Given the description of an element on the screen output the (x, y) to click on. 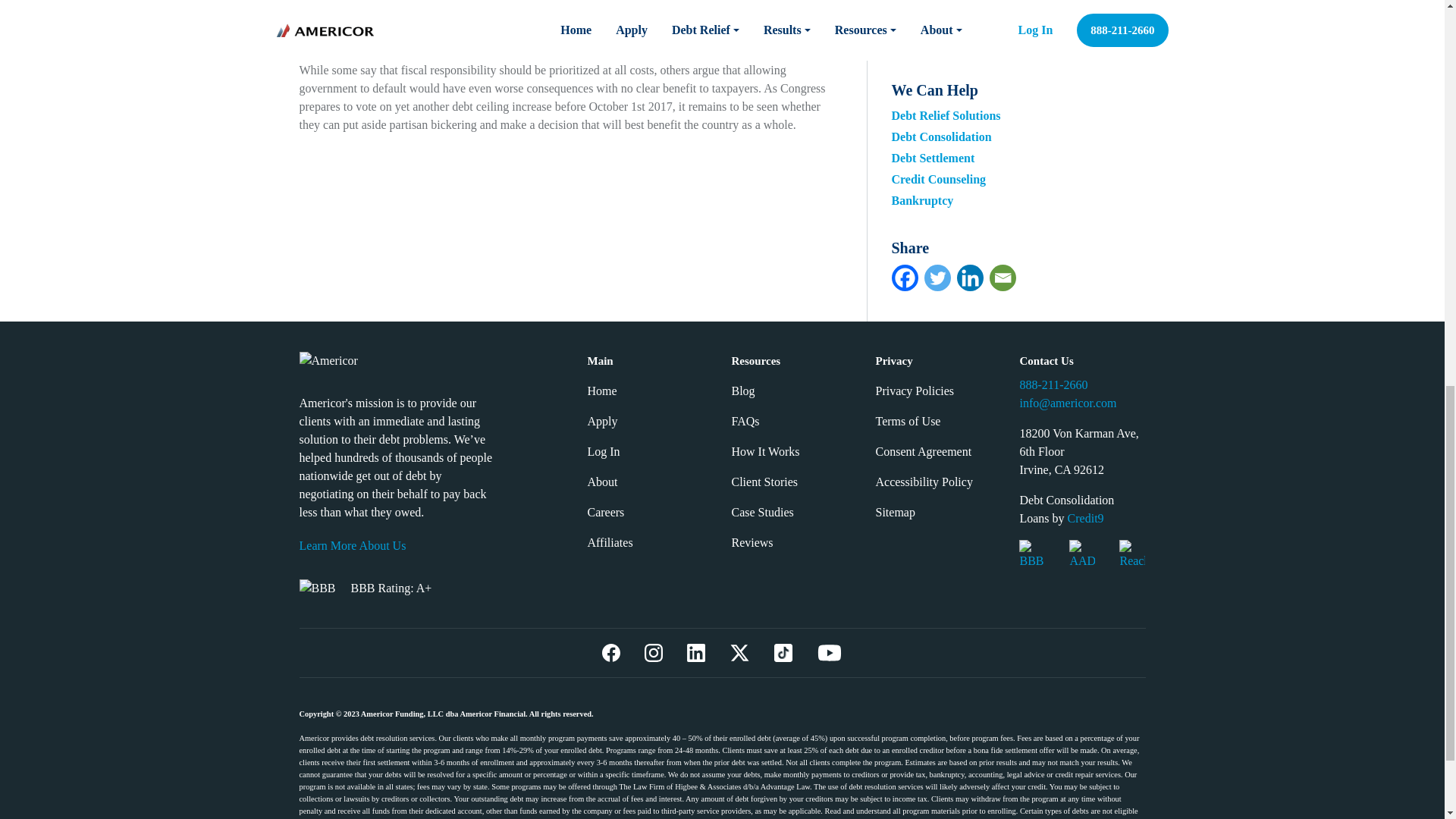
Debt Relief Solutions (946, 115)
Debt Settlement (933, 157)
Email (1001, 277)
Facebook (904, 277)
Bankruptcy (922, 200)
Debt Consolidation (941, 136)
Click Here (1077, 33)
loans (641, 21)
Linkedin (970, 277)
Credit Counseling (939, 178)
